Given the description of an element on the screen output the (x, y) to click on. 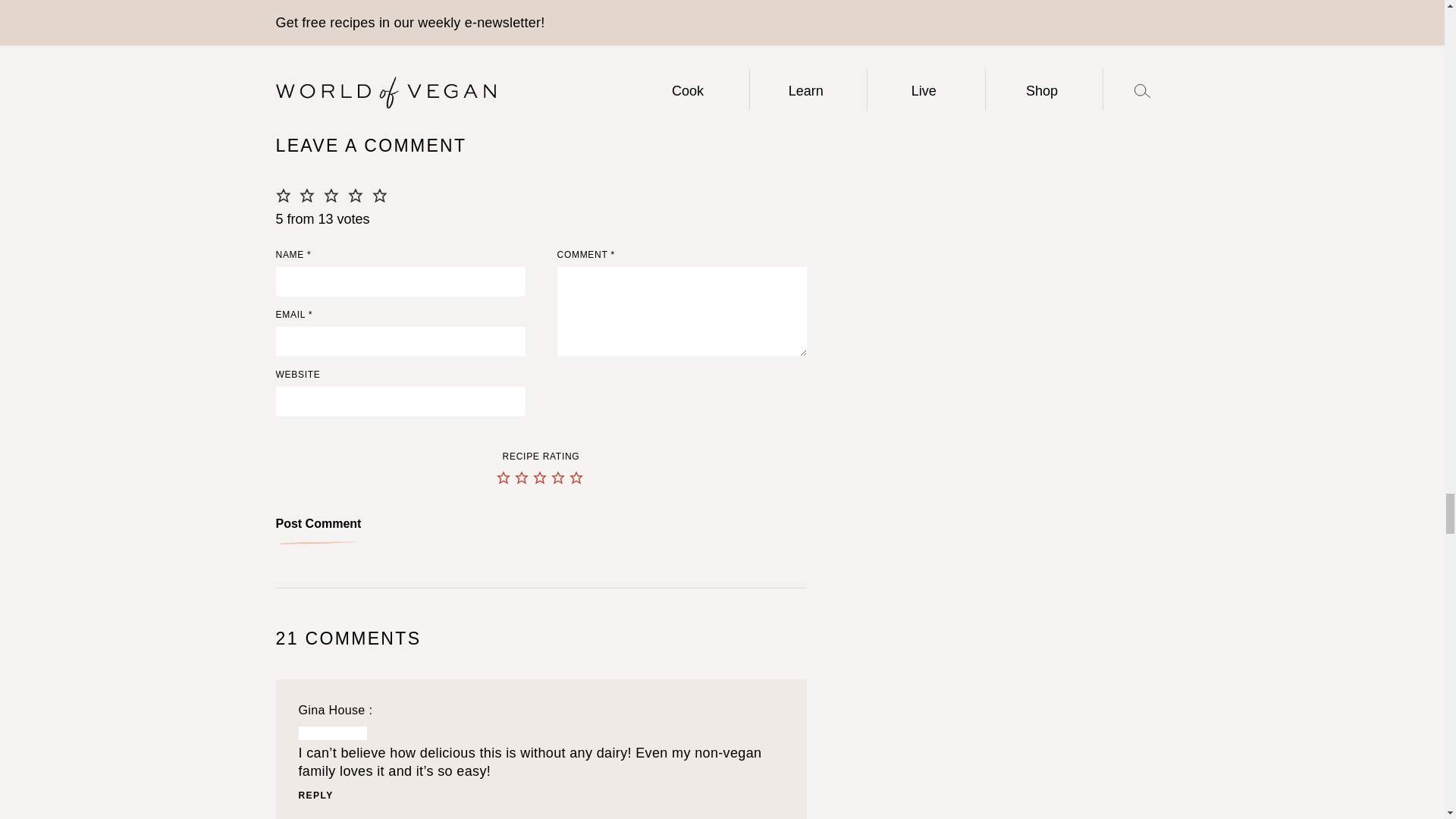
Post Comment (318, 529)
